Given the description of an element on the screen output the (x, y) to click on. 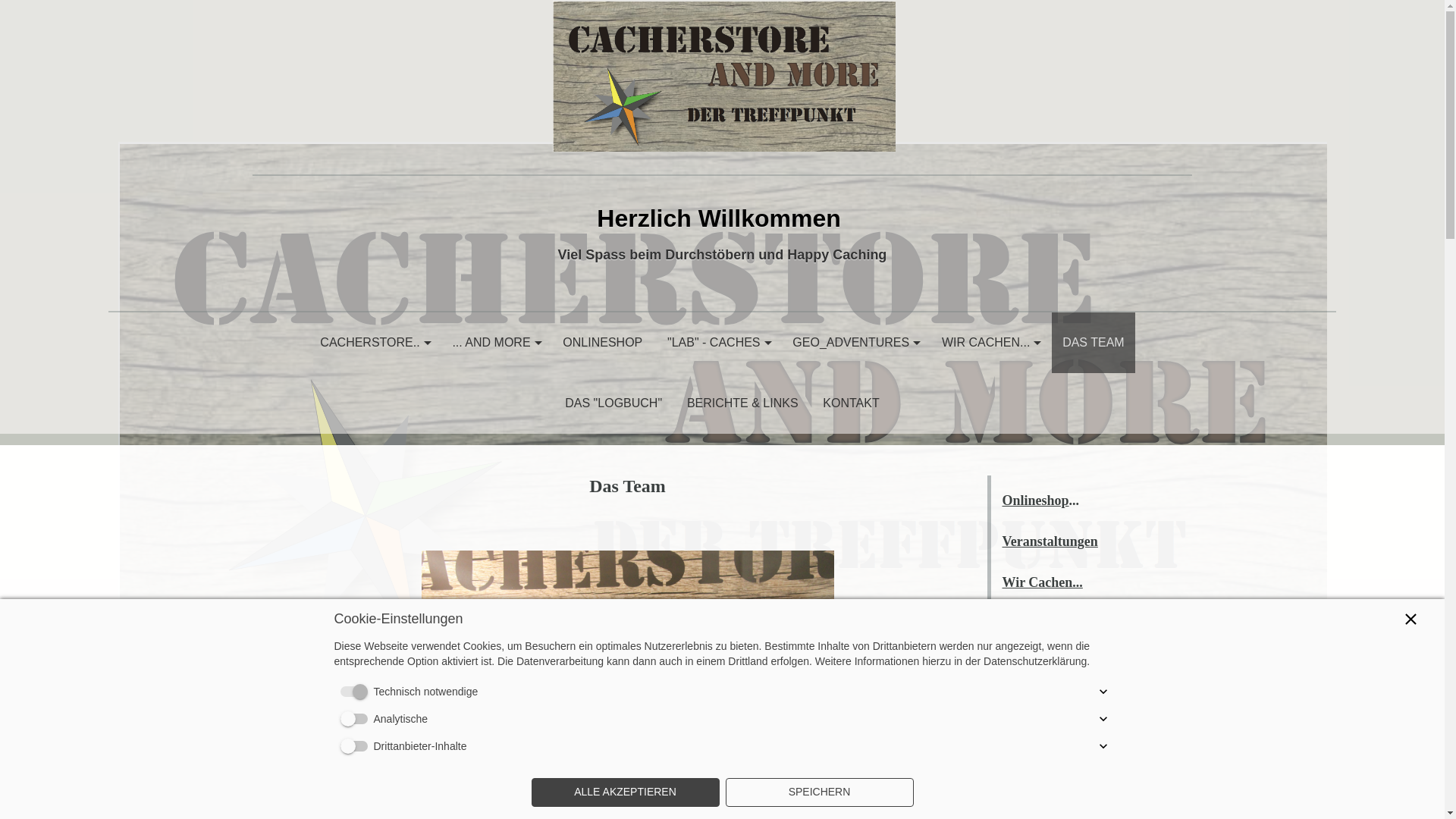
KONTAKT Element type: text (851, 403)
GEO_ADVENTURES Element type: text (854, 342)
"LAB" - CACHES Element type: text (717, 342)
ONLINESHOP Element type: text (602, 342)
Geocaching auf den Azoren! Element type: text (1066, 717)
ALLE AKZEPTIEREN Element type: text (624, 792)
WIR CACHEN... Element type: text (989, 342)
Onlineshop Element type: text (1035, 500)
Veranstaltungen Element type: text (1050, 541)
Wir Cachen... Element type: text (1042, 581)
DAS TEAM Element type: text (1093, 342)
DAS "LOGBUCH" Element type: text (613, 403)
Whats App-News Element type: text (1053, 622)
BERICHTE & LINKS Element type: text (741, 403)
SPEICHERN Element type: text (818, 792)
CACHERSTORE.. Element type: text (373, 342)
... AND MORE Element type: text (495, 342)
